Given the description of an element on the screen output the (x, y) to click on. 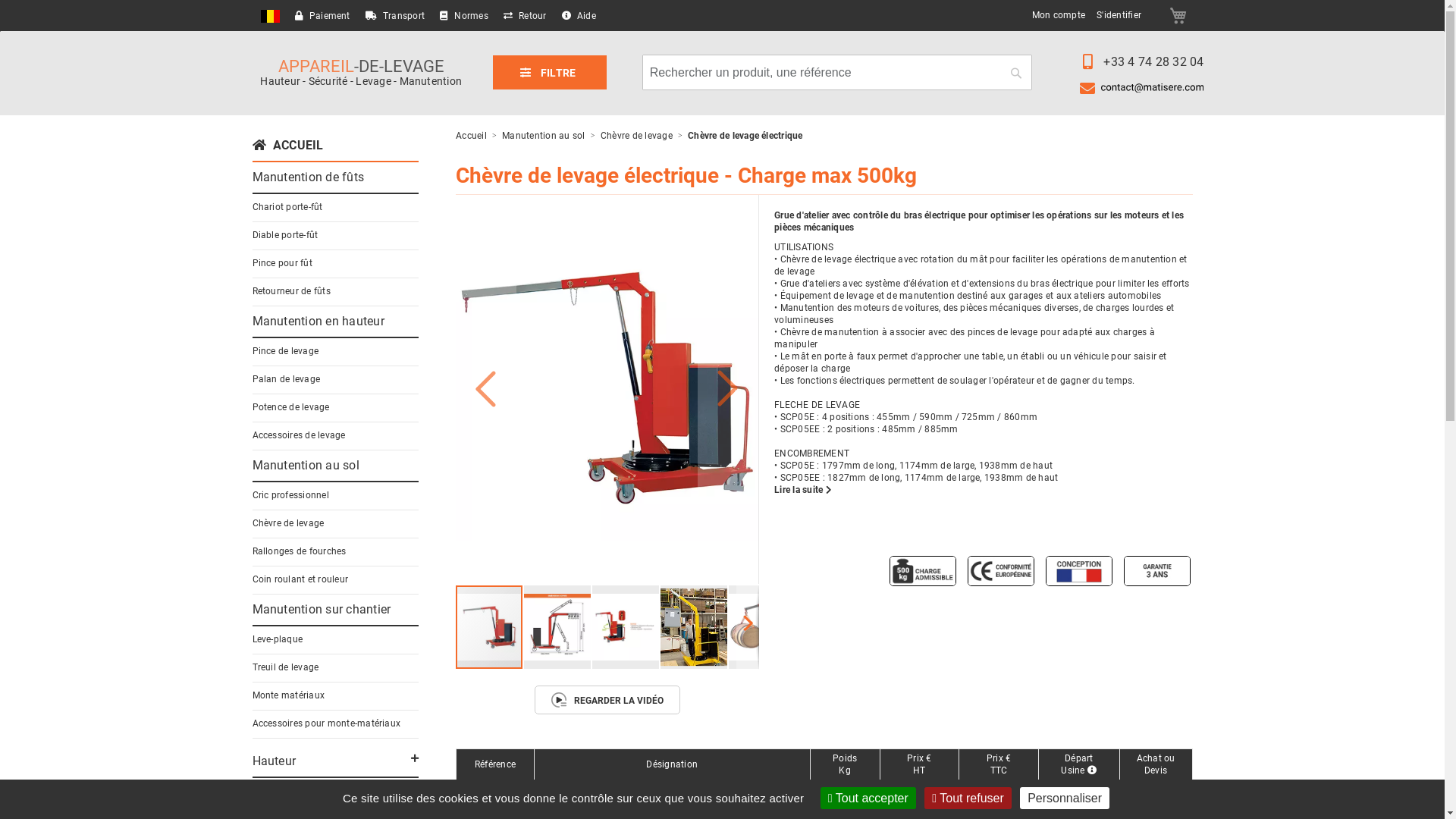
Tout accepter Element type: text (868, 798)
Leve-plaque Element type: text (276, 638)
Manutention sur chantier Element type: text (320, 609)
Retour Element type: text (524, 15)
Manutention au sol Element type: text (304, 465)
Hauteur Element type: text (273, 760)
Paiement Element type: text (321, 15)
Aide Element type: text (578, 15)
Tout refuser Element type: text (967, 798)
Logistique Element type: text (280, 800)
Treuil de levage Element type: text (284, 667)
Coin roulant et rouleur Element type: text (299, 579)
Accessoires de levage Element type: text (298, 434)
Palan de levage Element type: text (285, 378)
ACCUEIL Element type: text (287, 145)
Manutention en hauteur Element type: text (317, 320)
Potence de levage Element type: text (290, 406)
Normes Element type: text (463, 15)
Pince de levage Element type: text (284, 350)
Rechercher Element type: text (1015, 72)
Rallonges de fourches Element type: text (298, 551)
Transport Element type: text (394, 15)
+ Element type: text (1155, 794)
Personnaliser Element type: text (1064, 798)
Accueil Element type: text (472, 135)
Cric professionnel Element type: text (289, 494)
FILTRE Element type: text (549, 71)
Manutention au sol Element type: text (544, 135)
Allez au contenu Element type: text (251, 8)
